Given the description of an element on the screen output the (x, y) to click on. 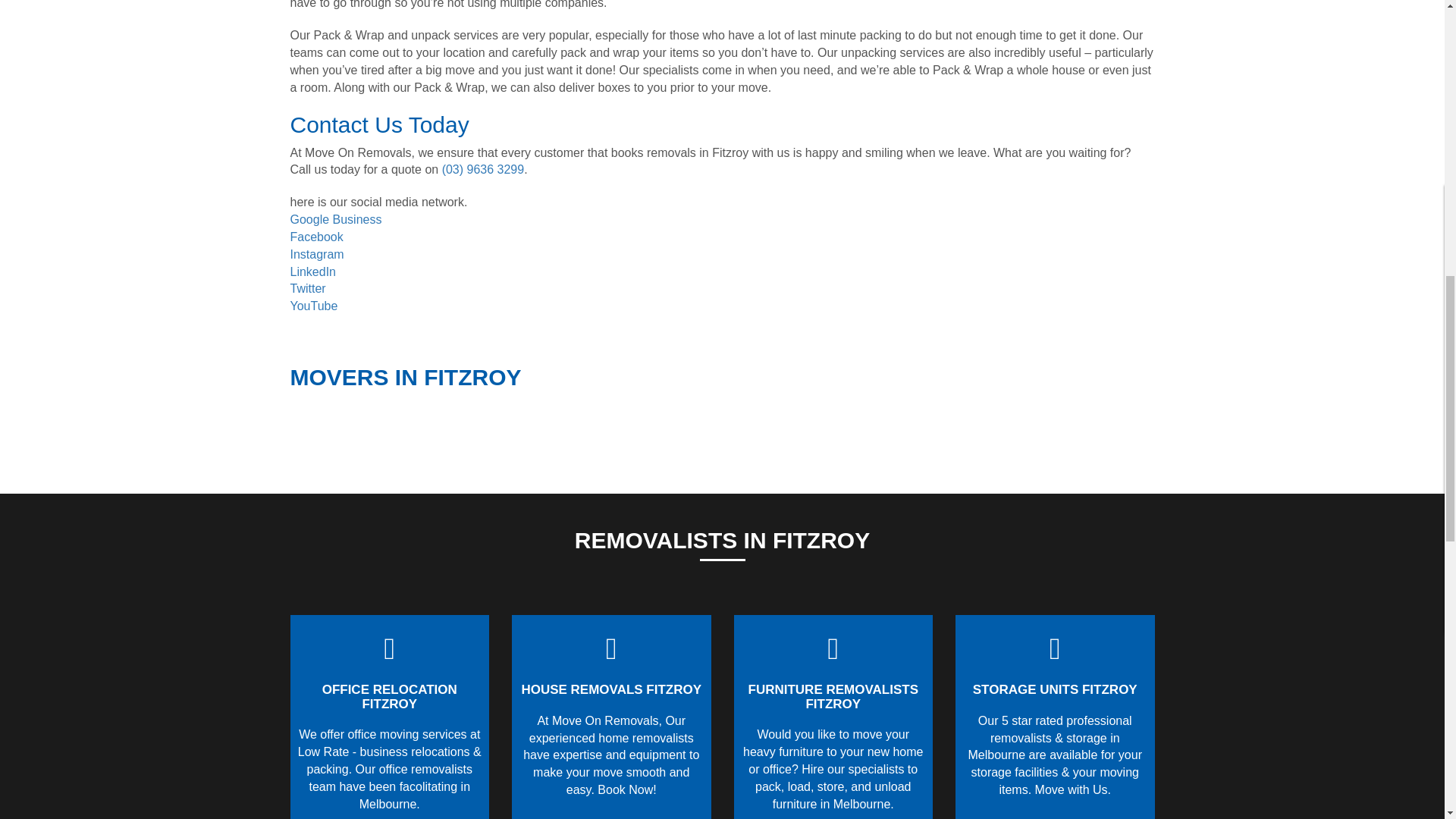
Google Business (335, 219)
LinkedIn (312, 271)
Instagram (316, 254)
Facebook (315, 236)
